Given the description of an element on the screen output the (x, y) to click on. 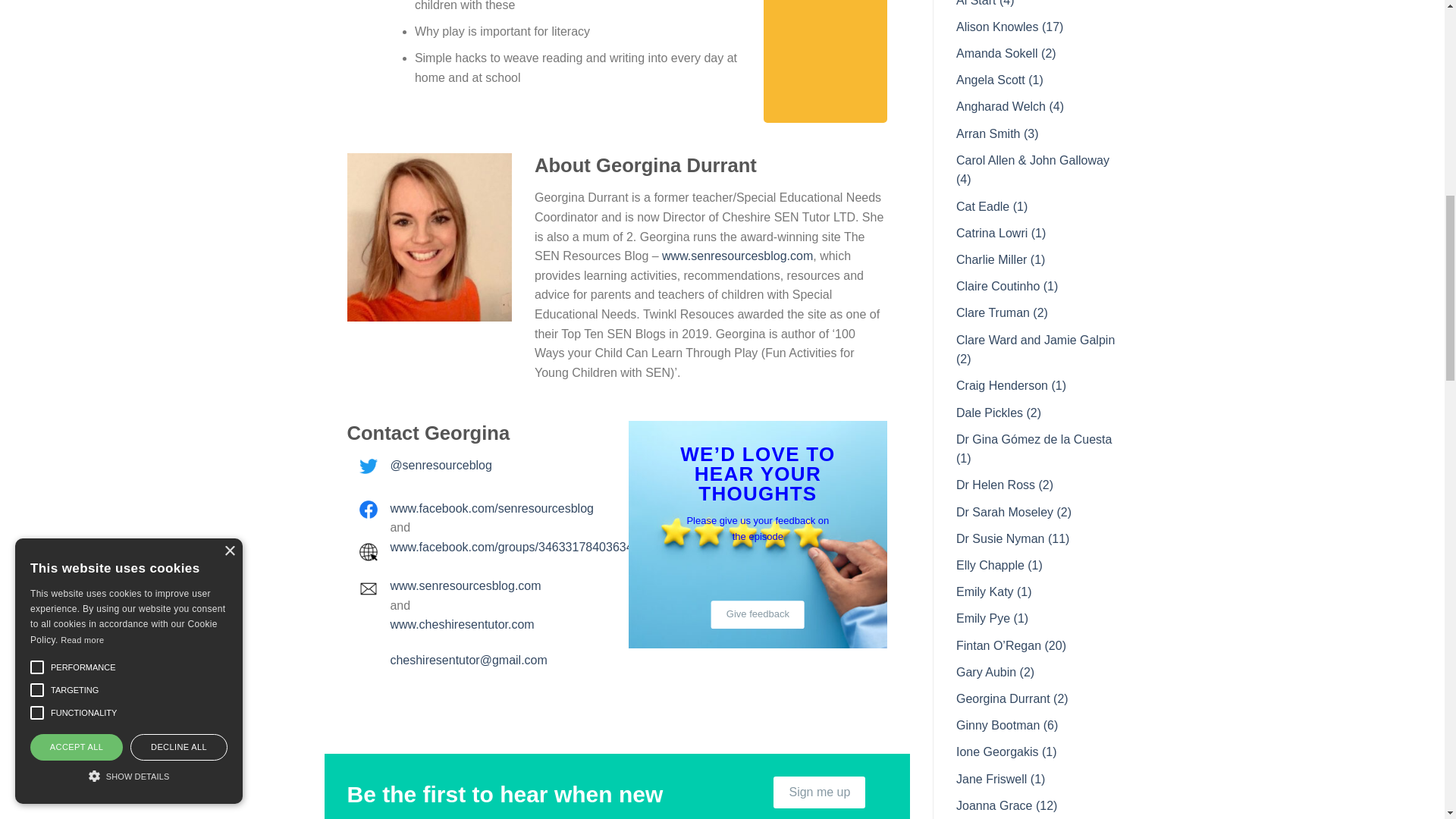
www.cheshiresentutor.com (462, 624)
www.senresourcesblog.com (737, 255)
www.senresourcesblog.com (465, 585)
